Given the description of an element on the screen output the (x, y) to click on. 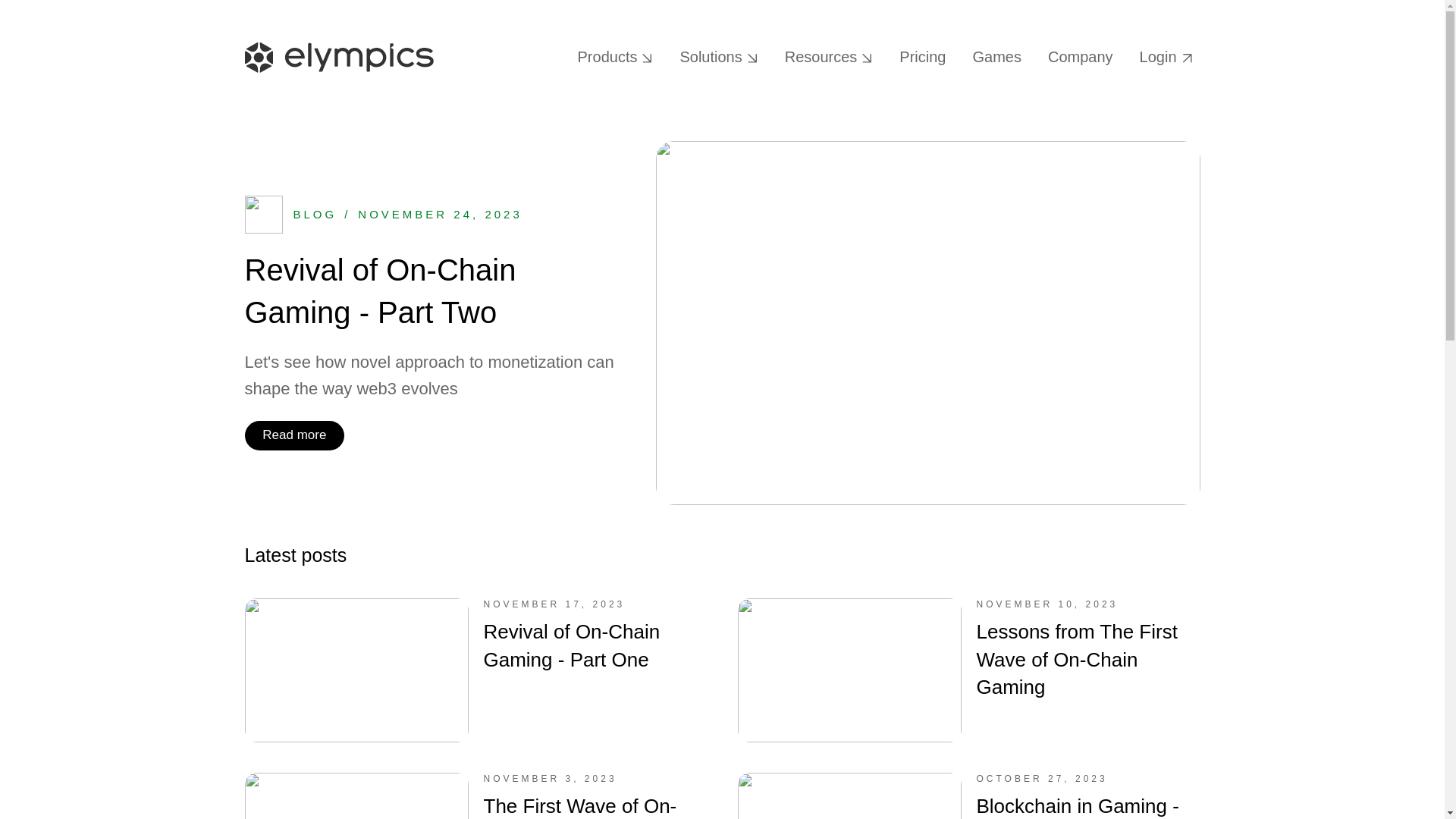
Company Element type: text (1080, 56)
Products Element type: text (615, 56)
Solutions Element type: text (718, 56)
Games Element type: text (996, 56)
Read more Element type: text (294, 435)
Pricing Element type: text (922, 56)
NOVEMBER 17, 2023
Revival of On-Chain Gaming - Part One Element type: text (475, 669)
Resources Element type: text (829, 56)
Login Element type: text (1166, 56)
